Given the description of an element on the screen output the (x, y) to click on. 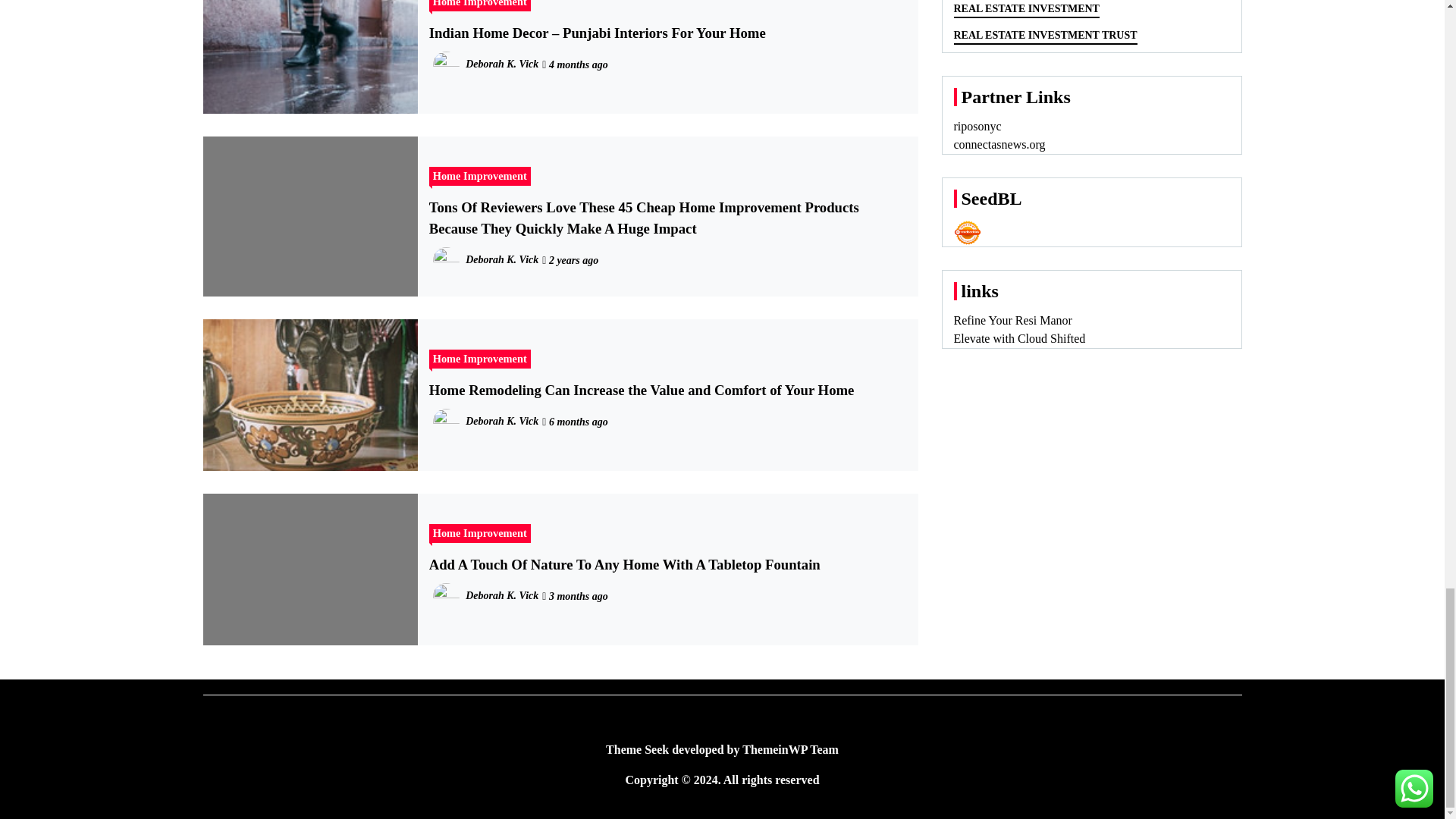
Seedbacklink (967, 232)
